Given the description of an element on the screen output the (x, y) to click on. 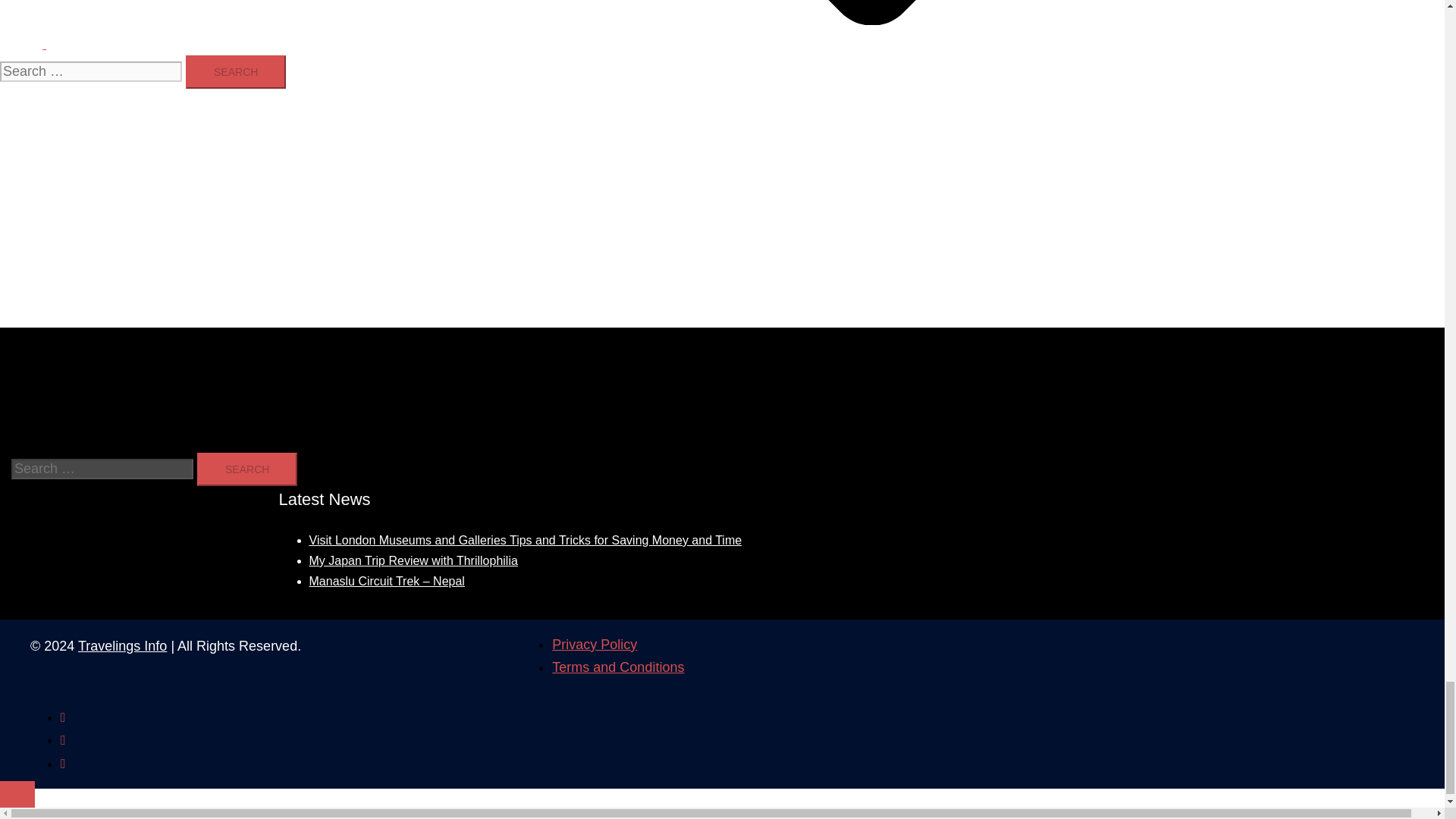
Terms and Conditions (617, 667)
Search (235, 71)
Travelings Info (122, 645)
Search (499, 31)
Search (246, 469)
Search (246, 469)
My Japan Trip Review with Thrillophilia (413, 560)
Privacy Policy (594, 644)
Search (246, 469)
Search (235, 71)
